Given the description of an element on the screen output the (x, y) to click on. 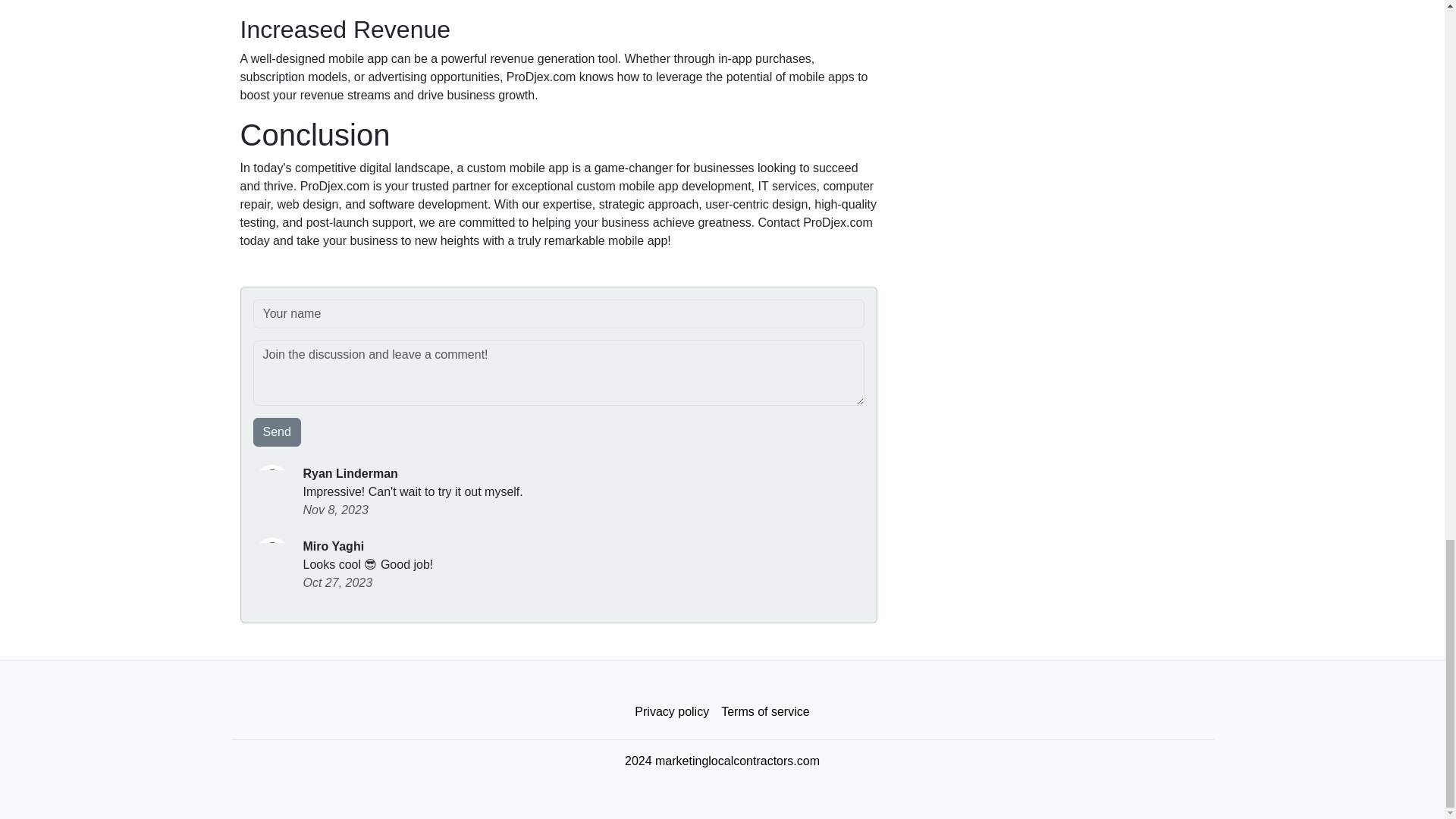
Send (277, 431)
Privacy policy (671, 711)
Terms of service (764, 711)
Send (277, 431)
